Given the description of an element on the screen output the (x, y) to click on. 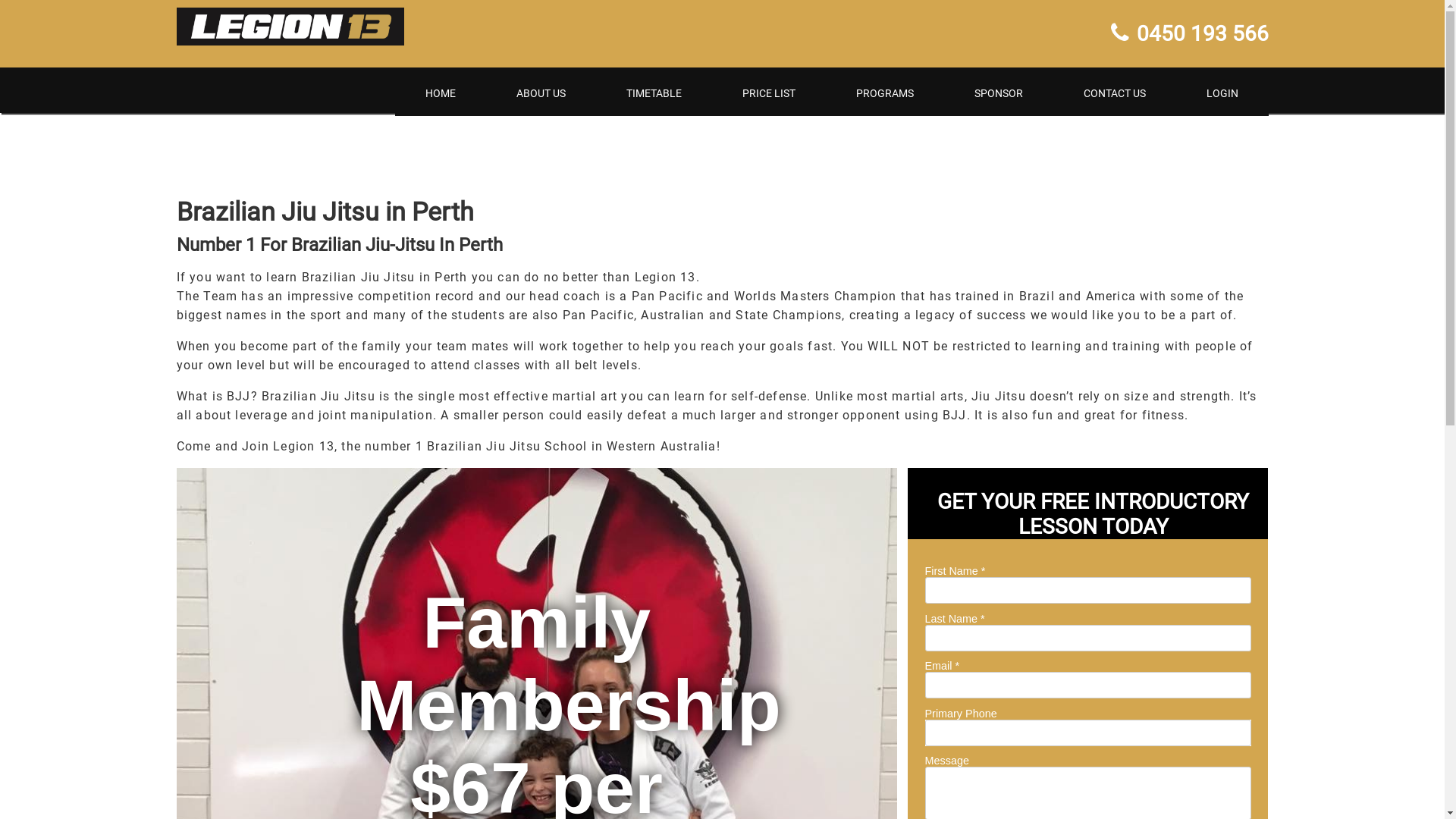
0450 193 566 Element type: text (1188, 33)
TIMETABLE Element type: text (653, 93)
PROGRAMS Element type: text (884, 93)
SPONSOR Element type: text (997, 93)
LOGIN Element type: text (1221, 93)
HOME Element type: text (439, 93)
ABOUT US Element type: text (540, 93)
PRICE LIST Element type: text (767, 93)
CONTACT US Element type: text (1113, 93)
